Given the description of an element on the screen output the (x, y) to click on. 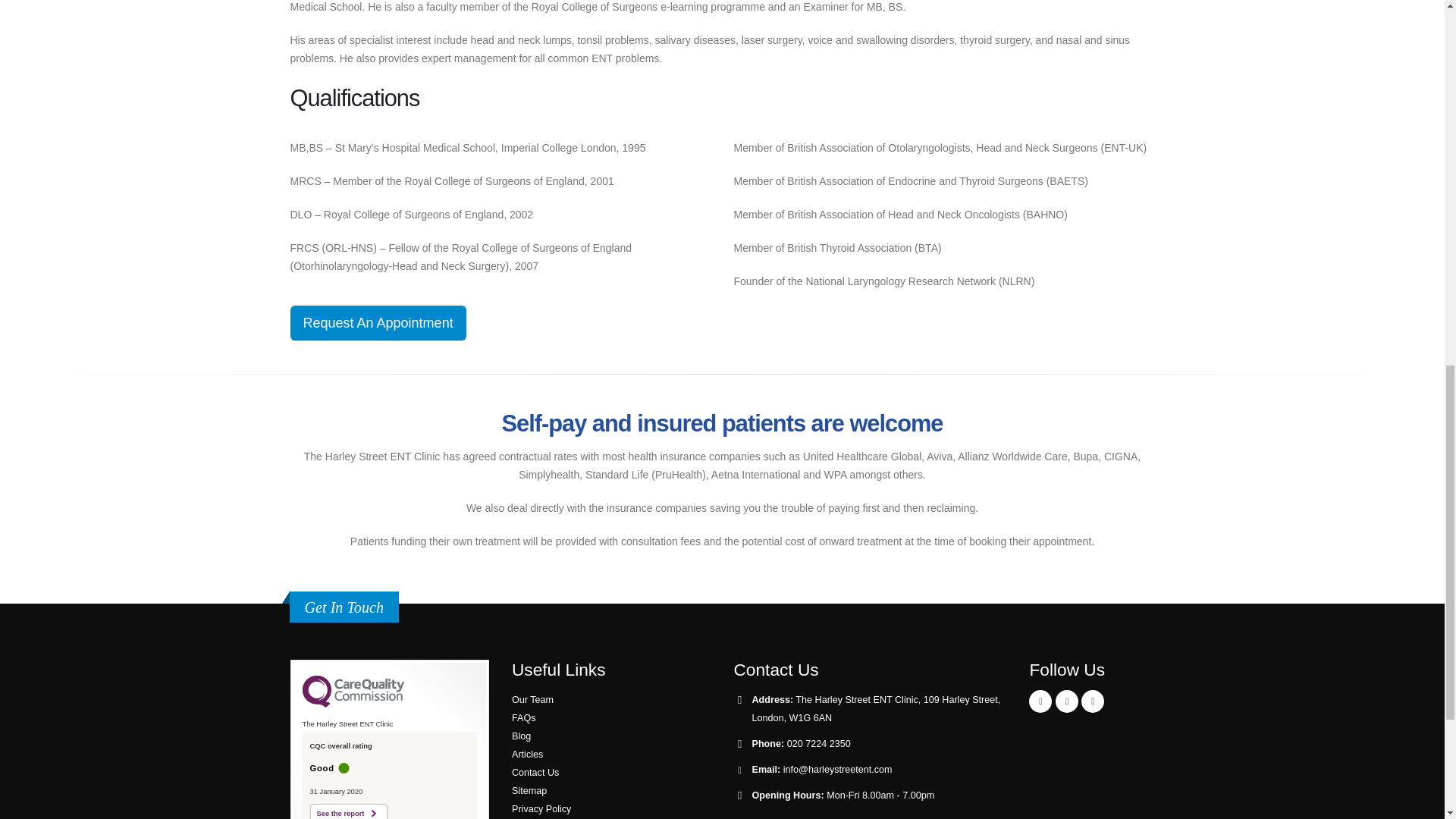
CQC Logo (352, 703)
Facebook (1040, 701)
Twitter (1066, 701)
Linkedin (1092, 701)
